Given the description of an element on the screen output the (x, y) to click on. 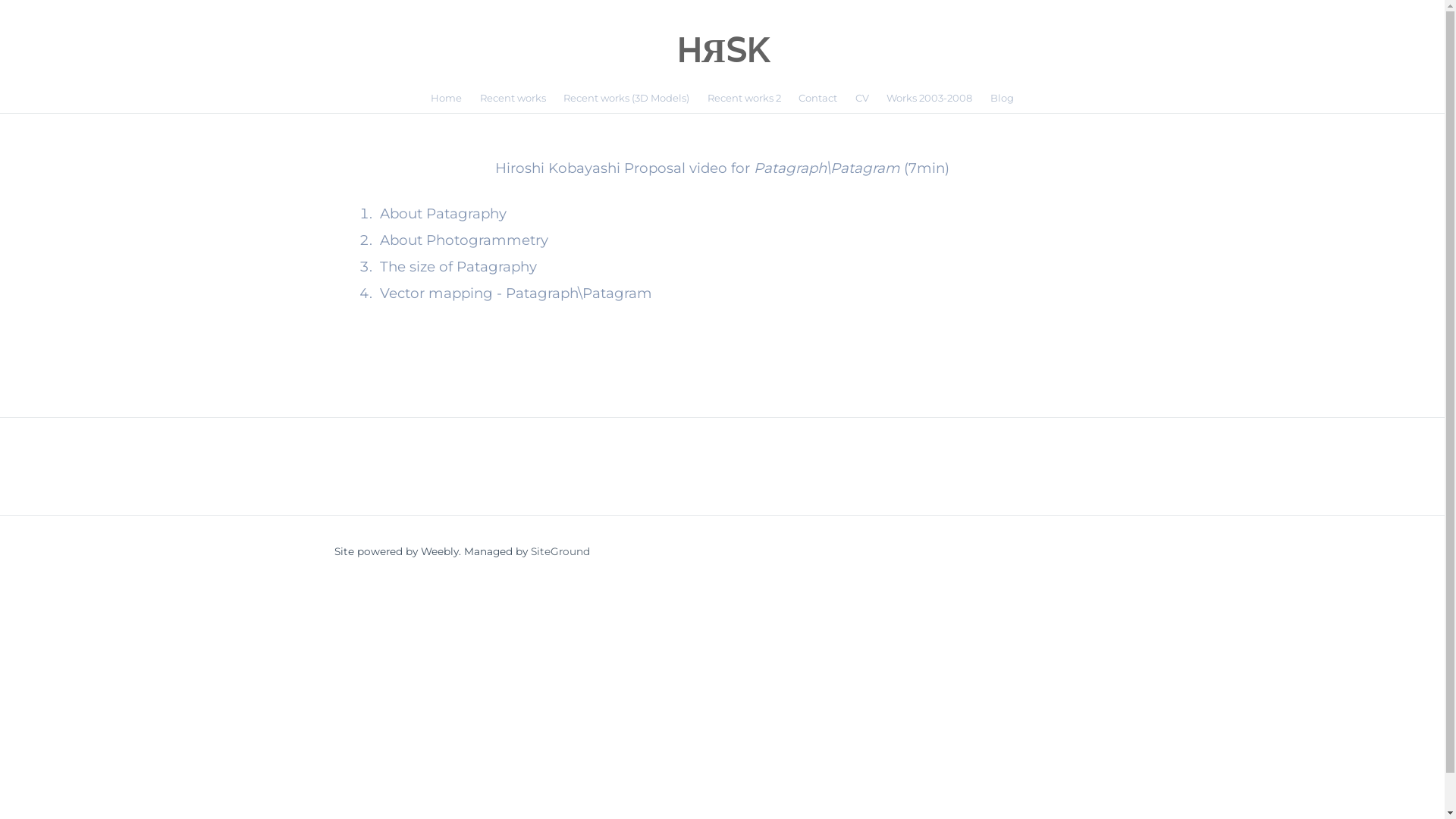
Recent works Element type: text (512, 97)
Blog Element type: text (1001, 97)
Recent works (3D Models) Element type: text (626, 97)
SiteGround Element type: text (559, 551)
Home Element type: text (446, 97)
Recent works 2 Element type: text (743, 97)
Contact Element type: text (818, 97)
Works 2003-2008 Element type: text (929, 97)
CV Element type: text (861, 97)
